Given the description of an element on the screen output the (x, y) to click on. 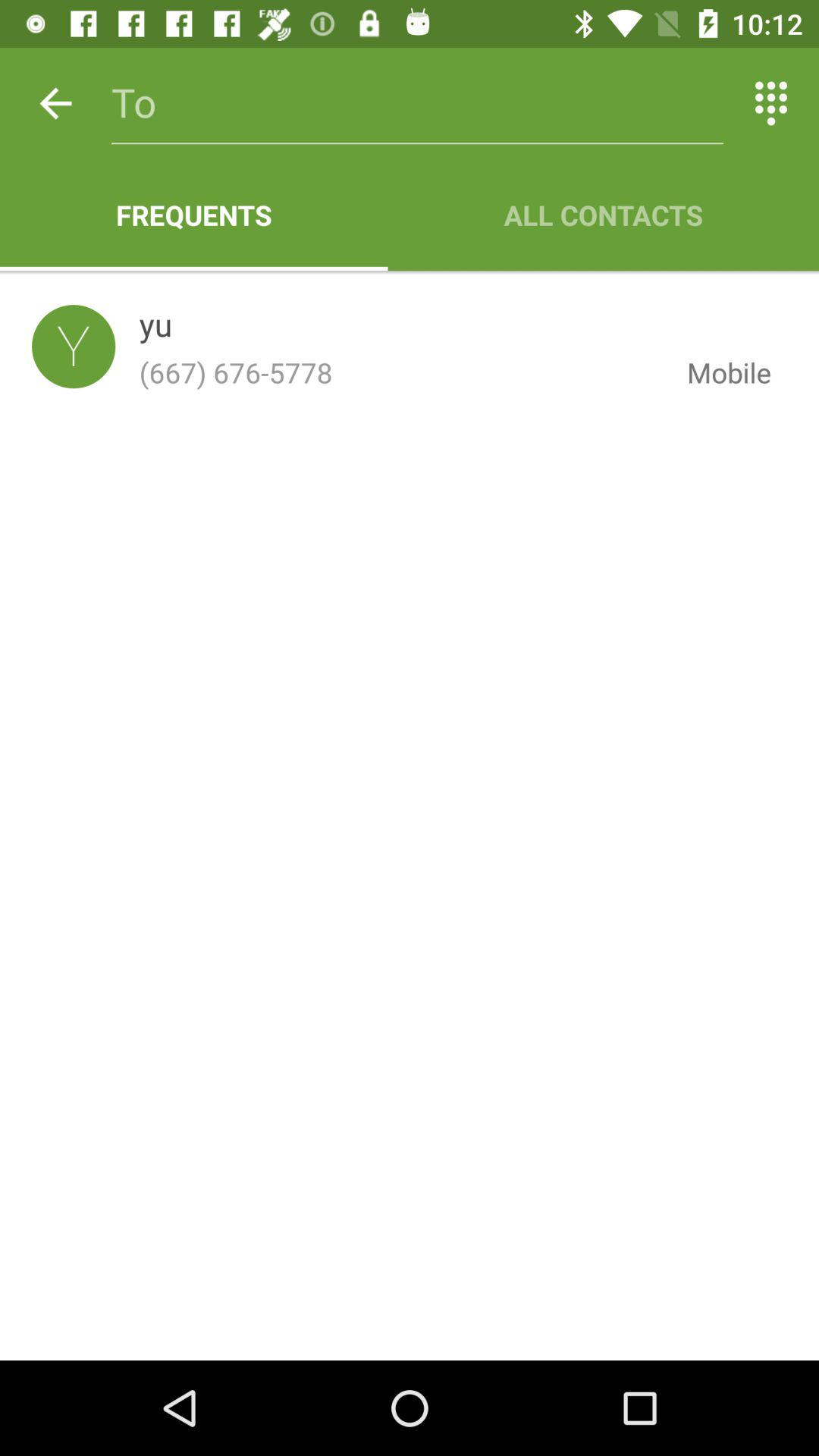
flip until the yu (155, 327)
